Given the description of an element on the screen output the (x, y) to click on. 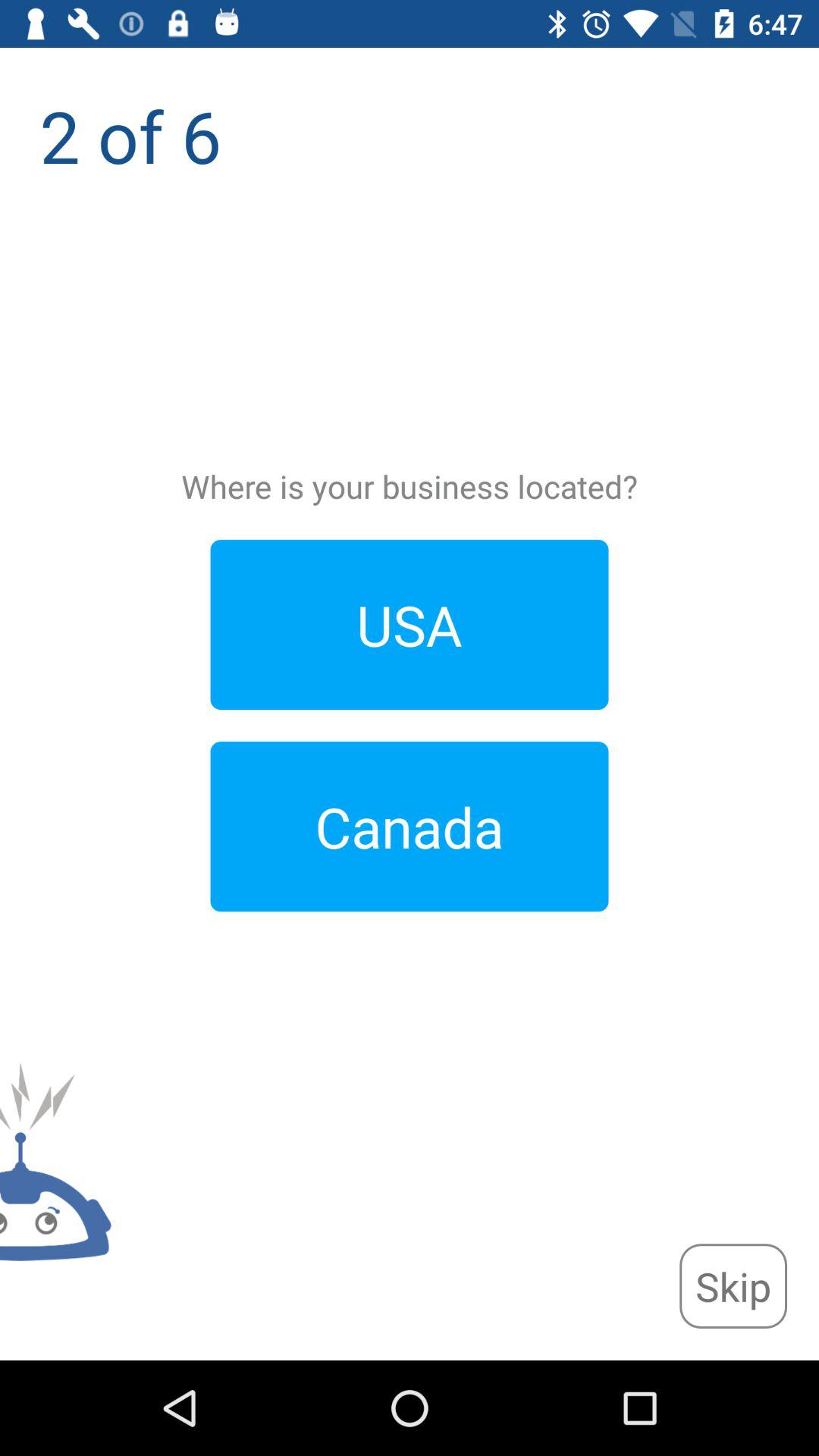
turn off the item below where is your app (409, 624)
